Given the description of an element on the screen output the (x, y) to click on. 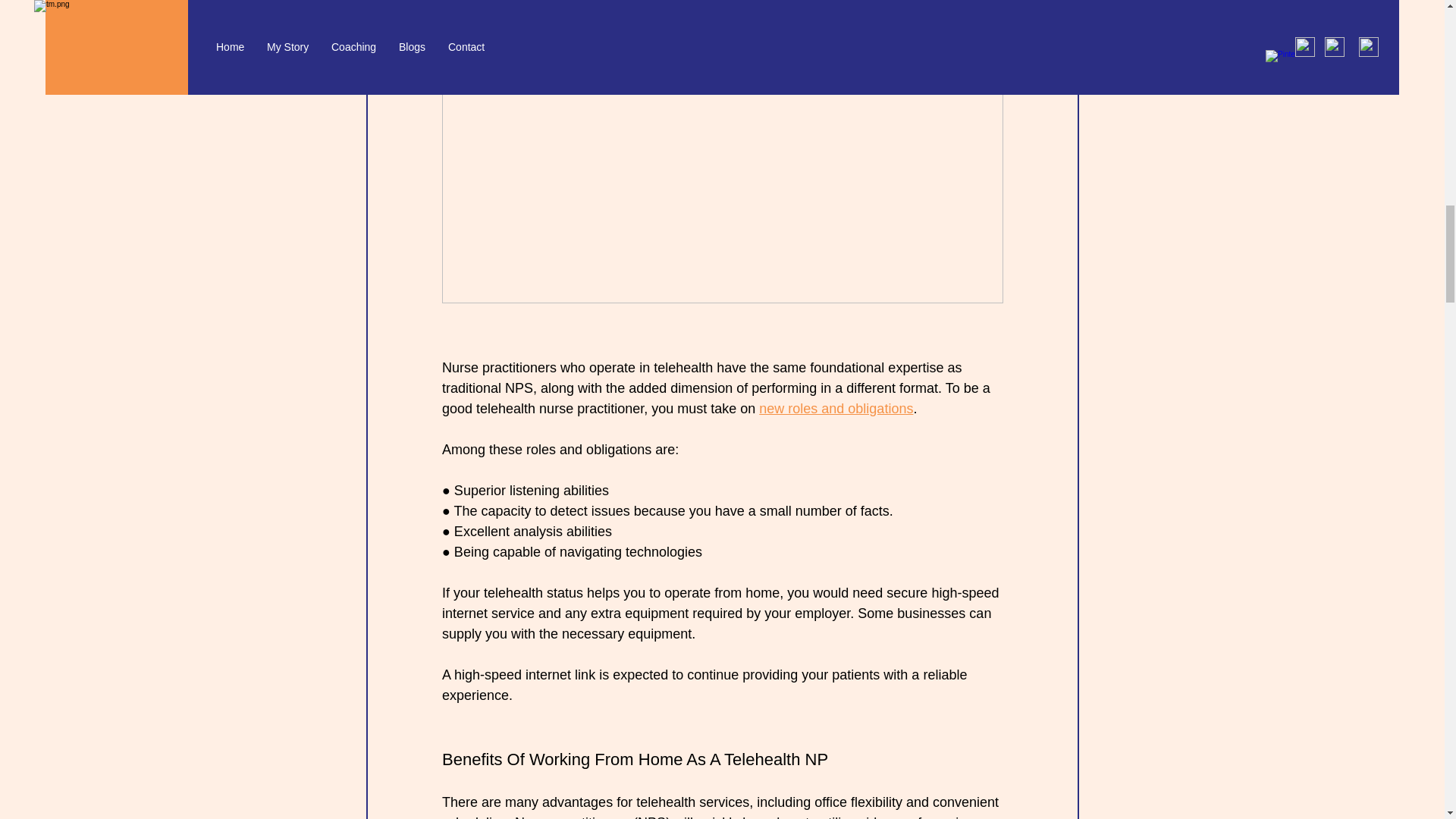
new roles and obligations (835, 408)
